Given the description of an element on the screen output the (x, y) to click on. 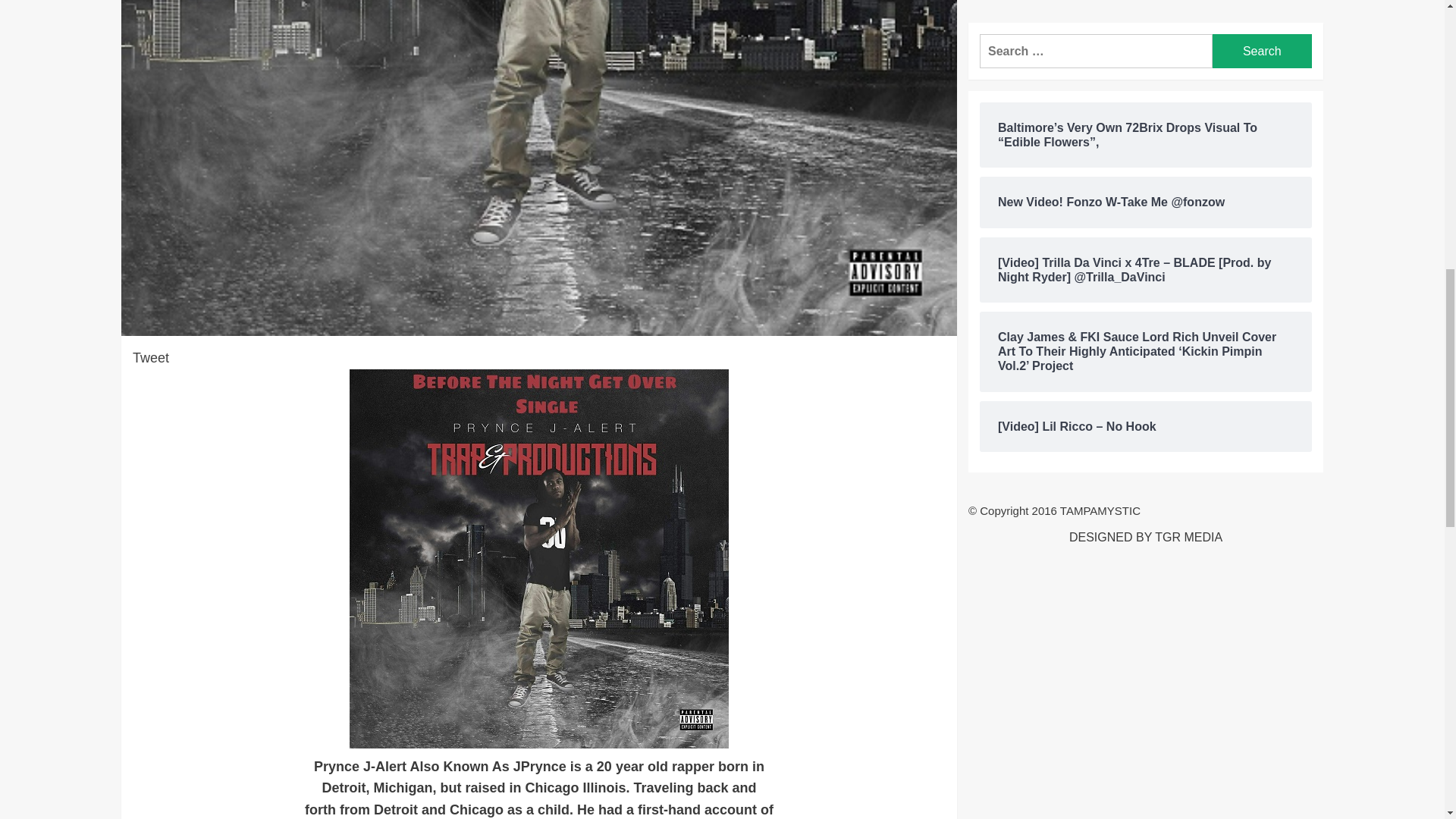
Tweet (150, 357)
